Given the description of an element on the screen output the (x, y) to click on. 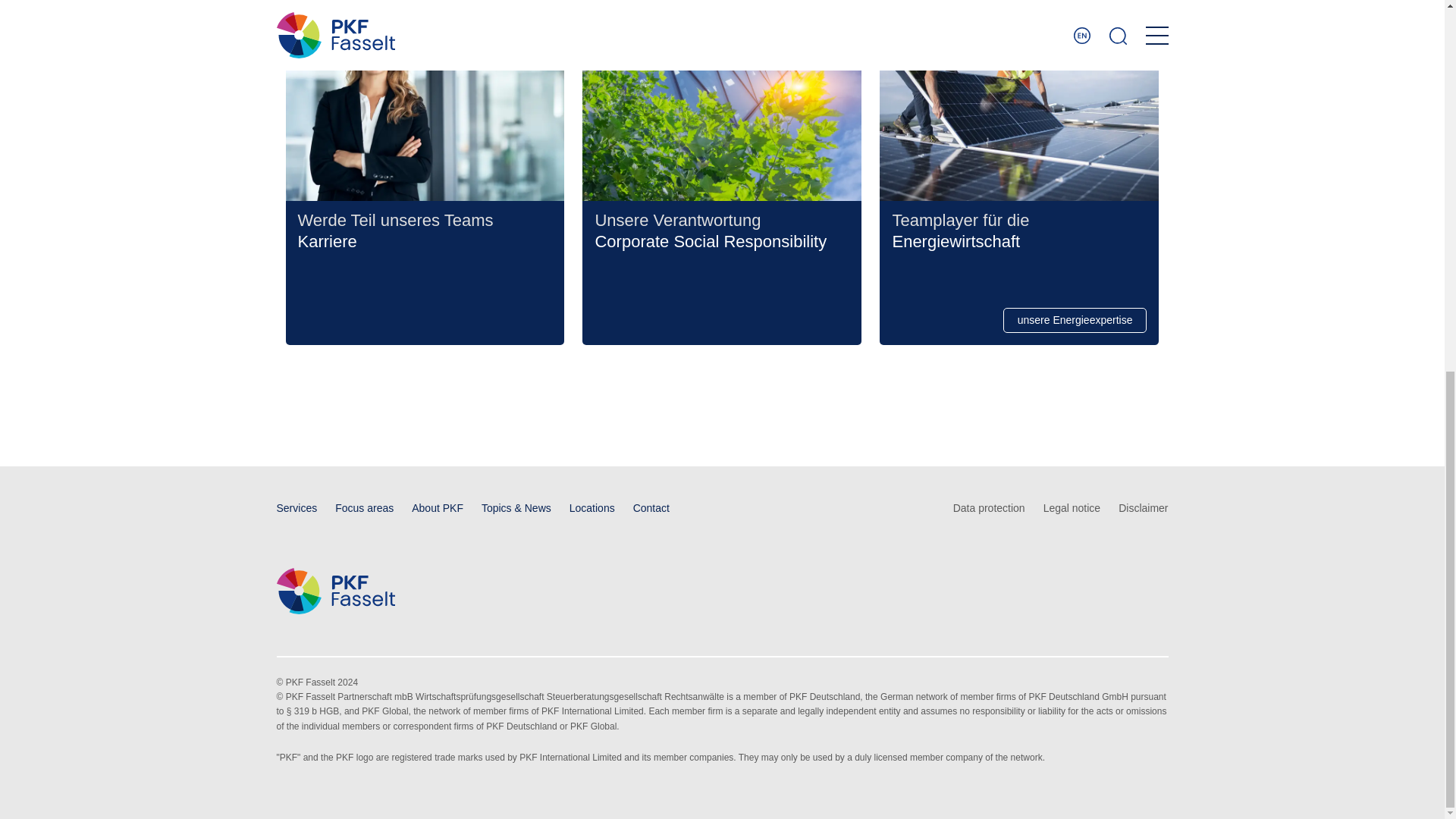
Data protection (989, 508)
About PKF (437, 508)
1405880267 (1018, 100)
Legal notice (1071, 508)
Focus areas (363, 508)
Services (296, 508)
Disclaimer (1142, 508)
Locations (591, 508)
Contact (651, 508)
